Given the description of an element on the screen output the (x, y) to click on. 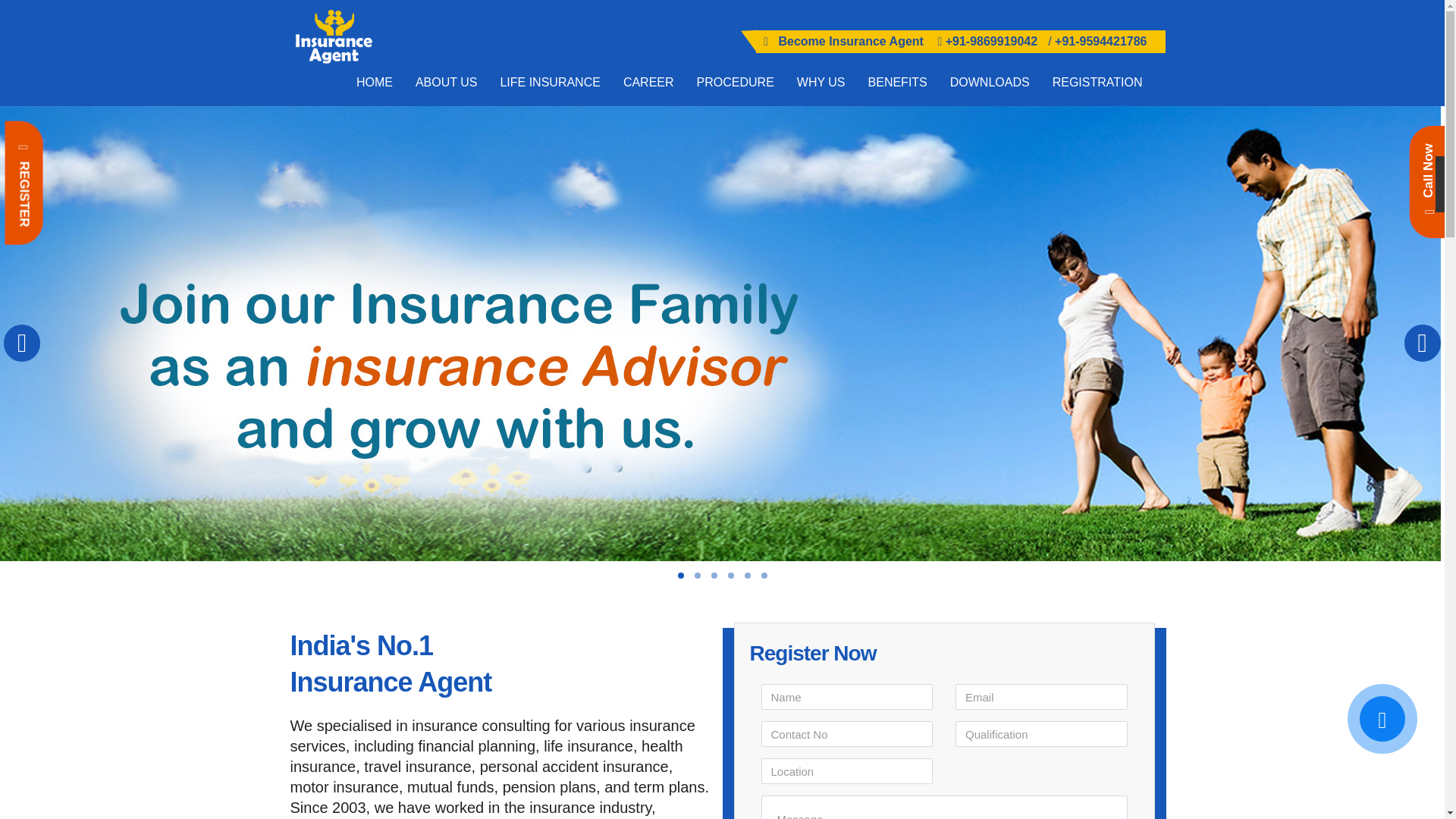
REGISTER (66, 139)
WHY US (821, 82)
LIFE INSURANCE (549, 82)
HOME (374, 82)
ABOUT US (446, 82)
BENEFITS (898, 82)
CAREER (648, 82)
Become Insurance Agent (850, 41)
REGISTRATION (1097, 82)
DOWNLOADS (990, 82)
